Given the description of an element on the screen output the (x, y) to click on. 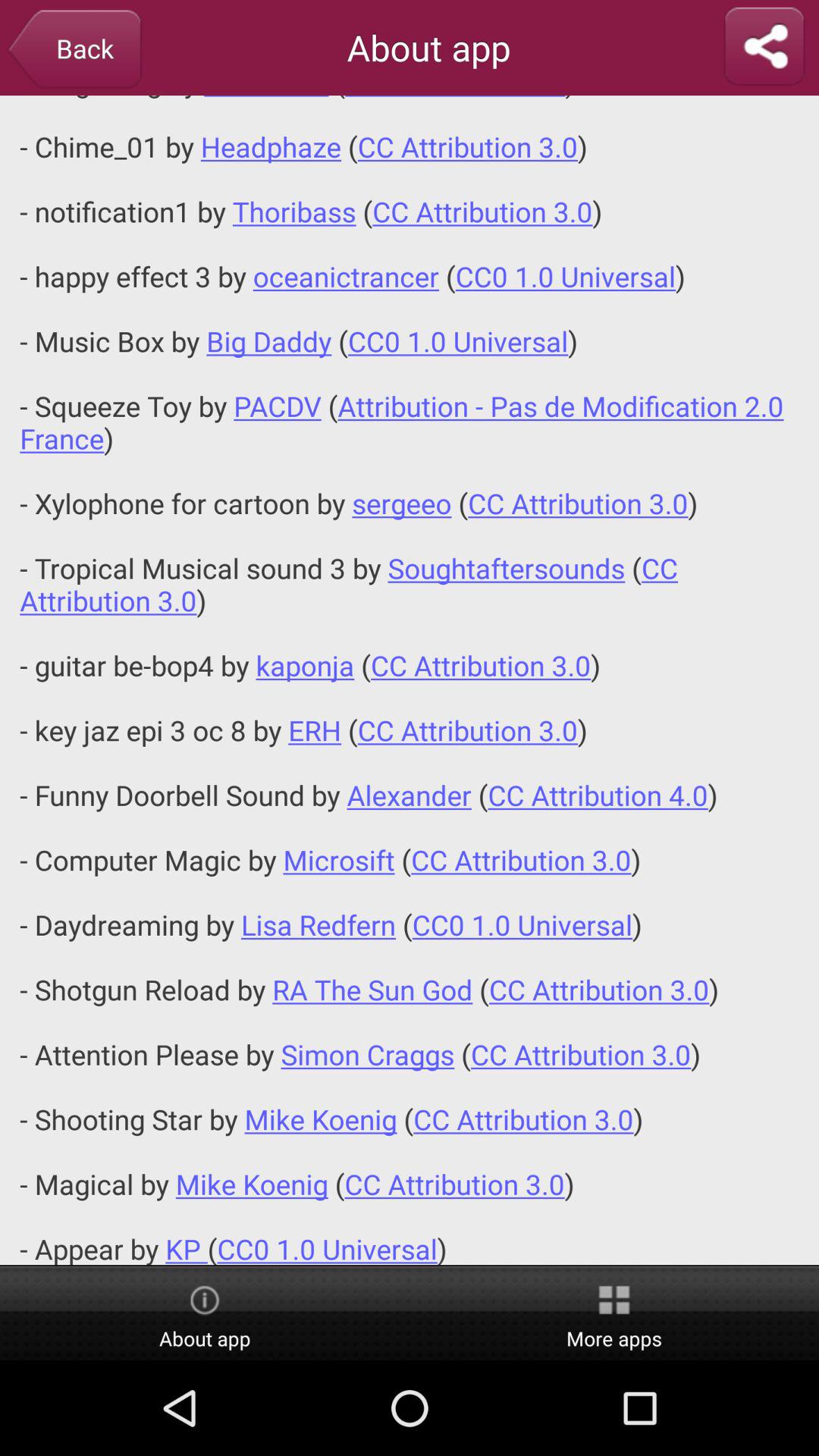
turn on the item to the right of about app item (764, 47)
